Given the description of an element on the screen output the (x, y) to click on. 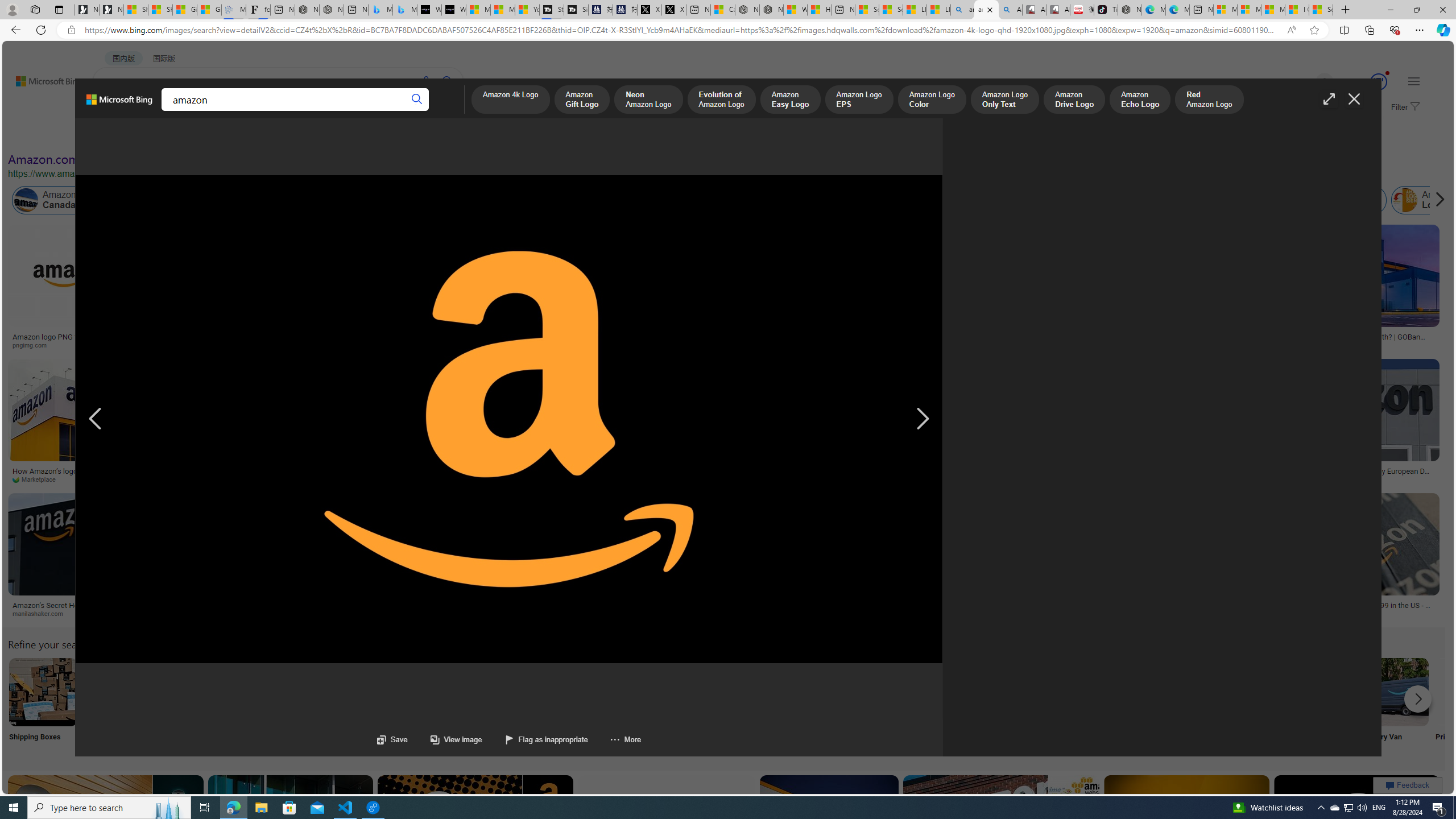
thewrap.com (1289, 479)
Wish List (568, 706)
Amazon Sign in My Account (718, 691)
Amazon Echo Logo (1139, 100)
Amazon Forest (1023, 199)
Amazon Wish List Wish List (568, 706)
Amazon Logo Png Hd Wallpaper | Images and Photos finder (513, 340)
Color (173, 135)
hdqwalls.com (1184, 344)
Flag as inappropriate (545, 739)
